Given the description of an element on the screen output the (x, y) to click on. 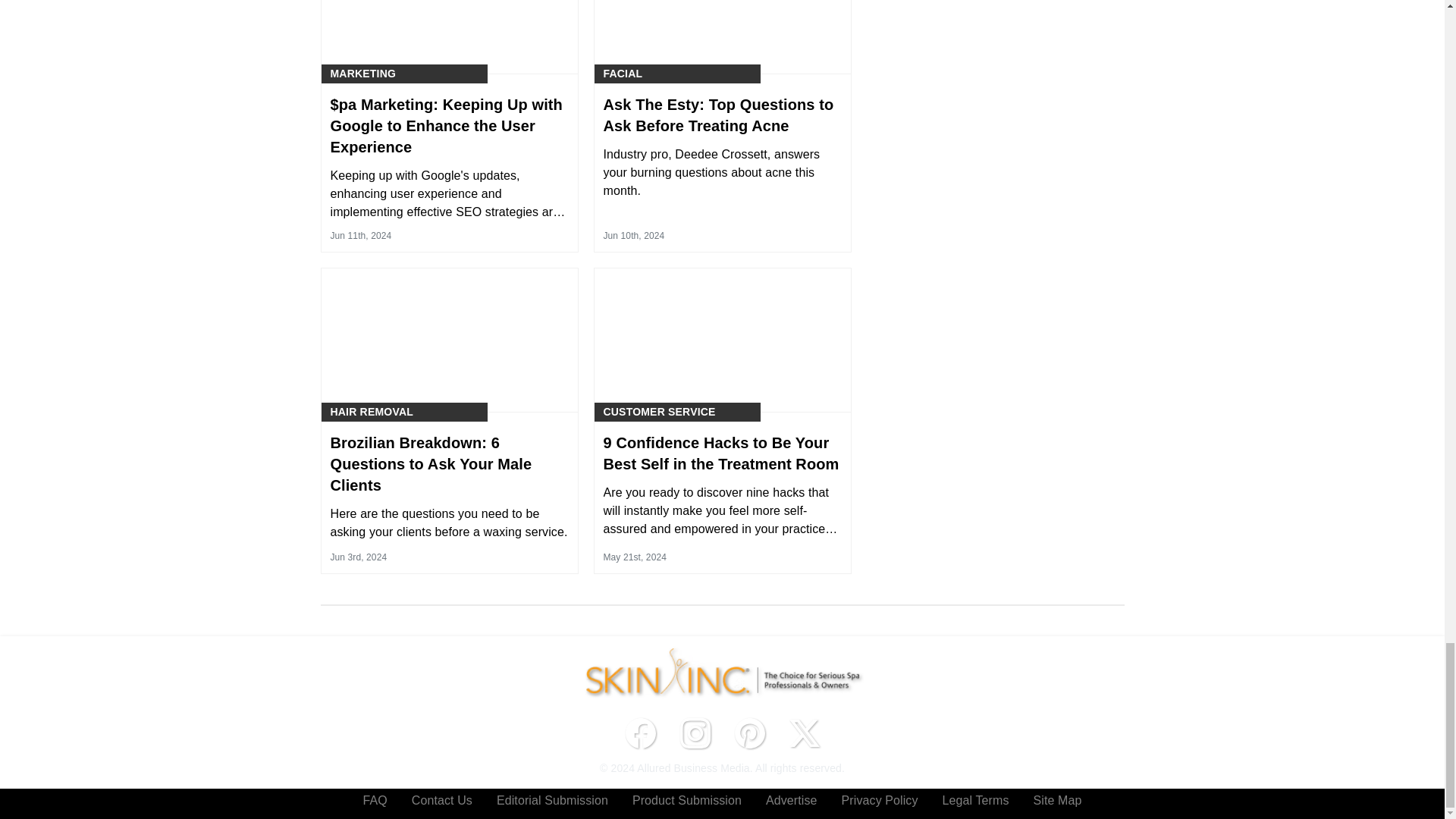
Pinterest icon (748, 733)
Instagram icon (694, 733)
Twitter X icon (803, 733)
Facebook icon (639, 733)
